Given the description of an element on the screen output the (x, y) to click on. 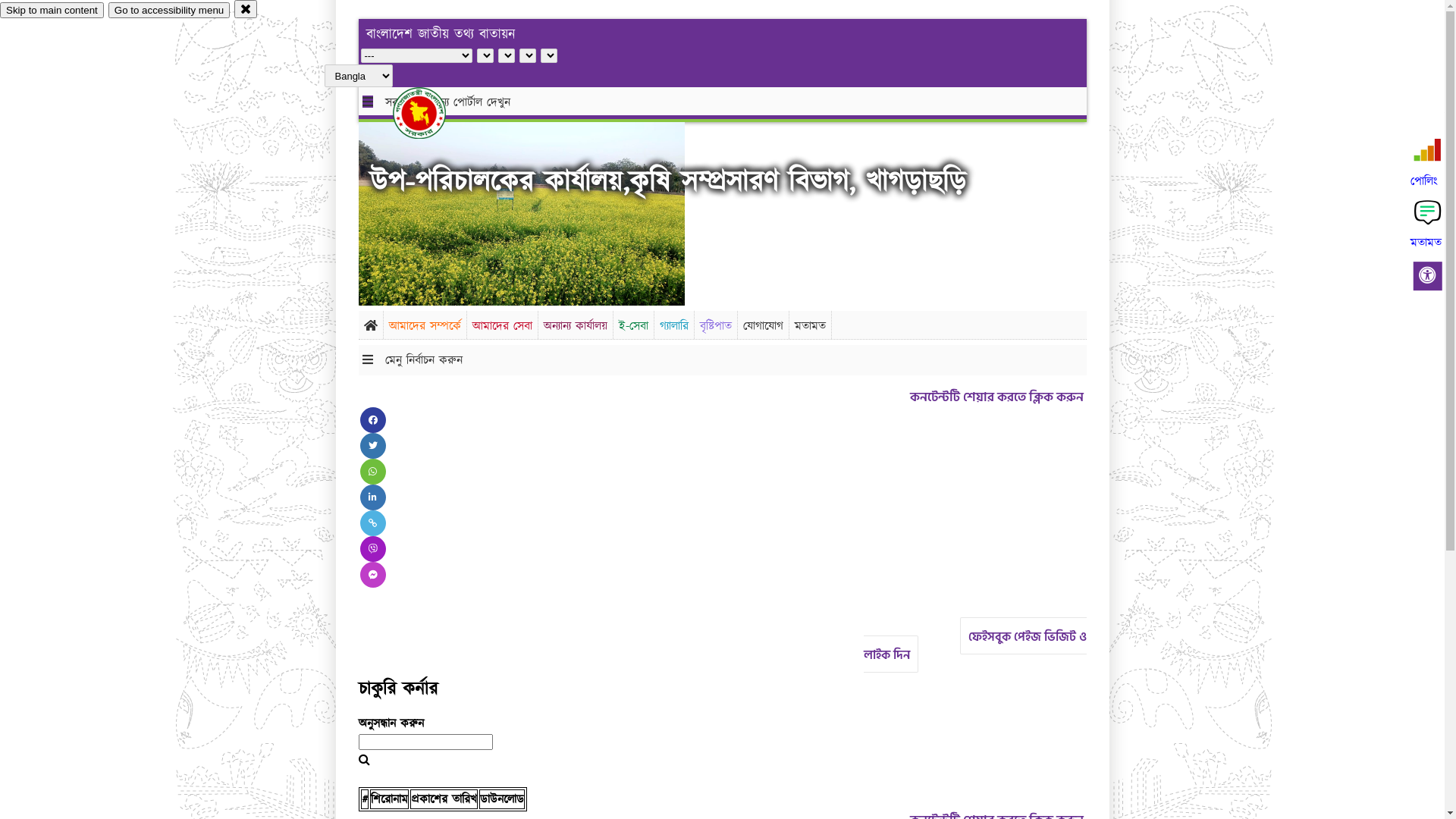

                
             Element type: hover (431, 112)
Skip to main content Element type: text (51, 10)
close Element type: hover (245, 9)
Go to accessibility menu Element type: text (168, 10)
